Given the description of an element on the screen output the (x, y) to click on. 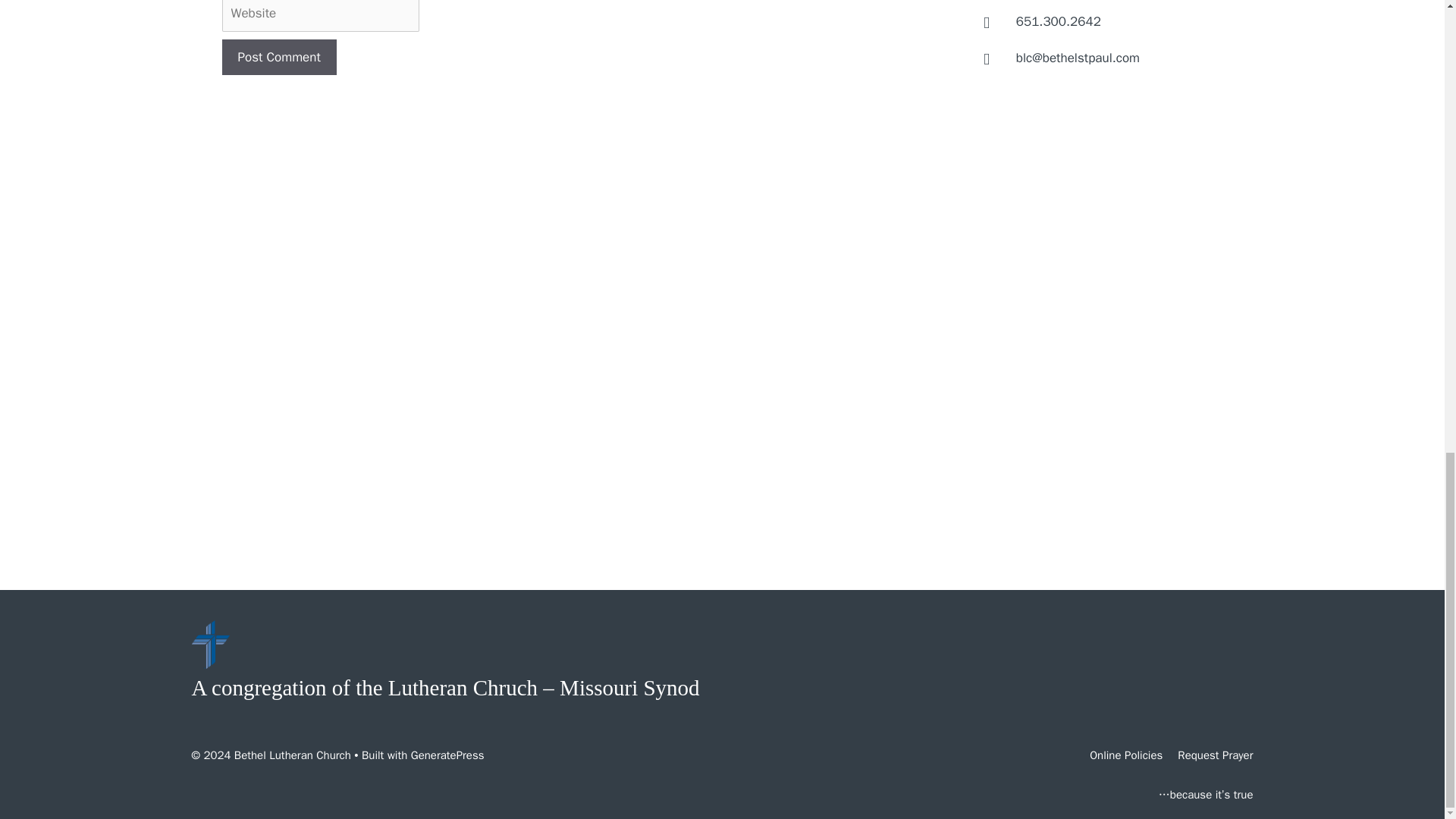
Online Policies (1125, 755)
Request Prayer (1214, 755)
Post Comment (278, 57)
GeneratePress (447, 755)
Post Comment (278, 57)
651.300.2642 (1058, 21)
